Given the description of an element on the screen output the (x, y) to click on. 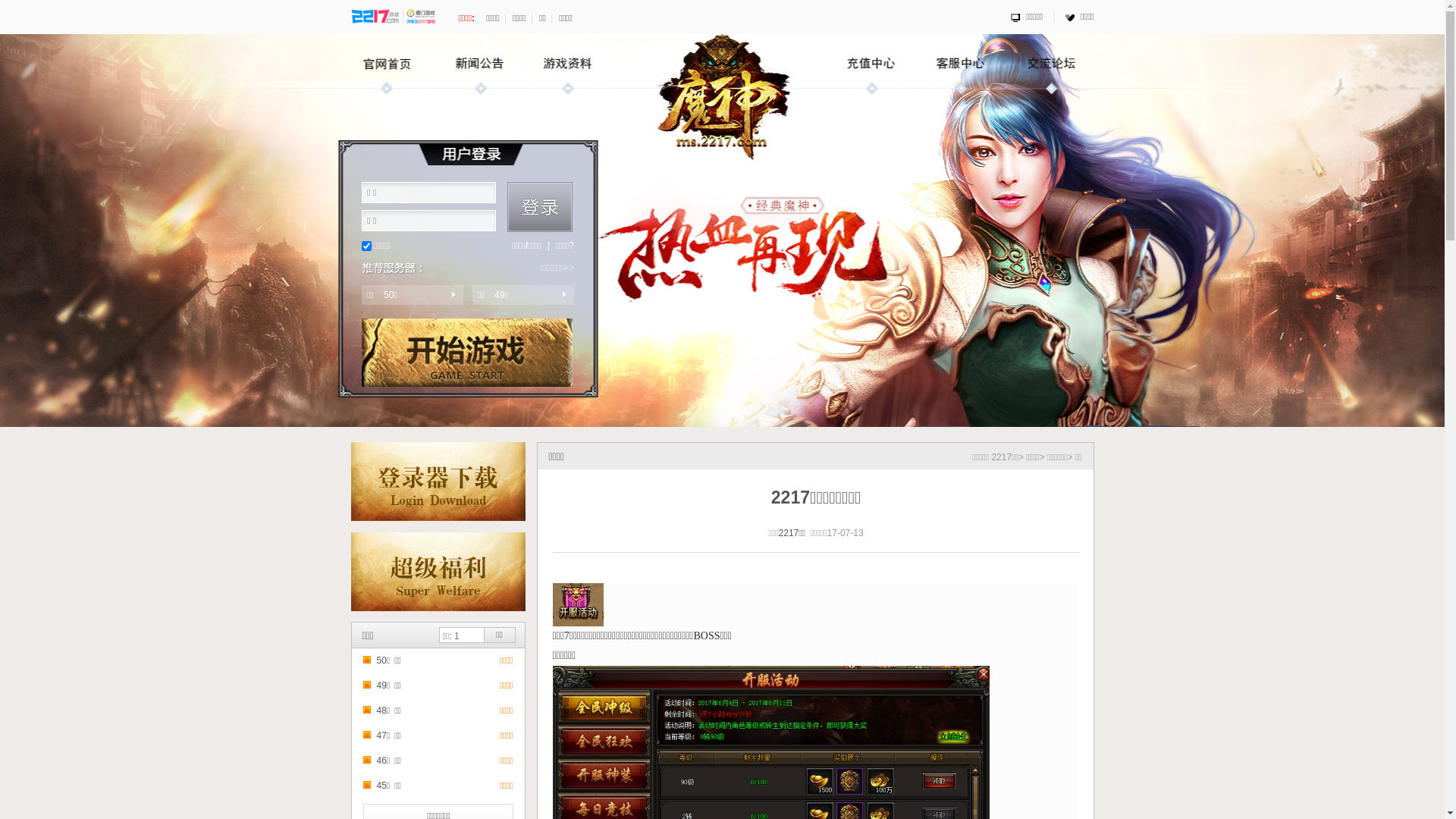
1499913919232011.jpg Element type: hover (577, 604)
